Given the description of an element on the screen output the (x, y) to click on. 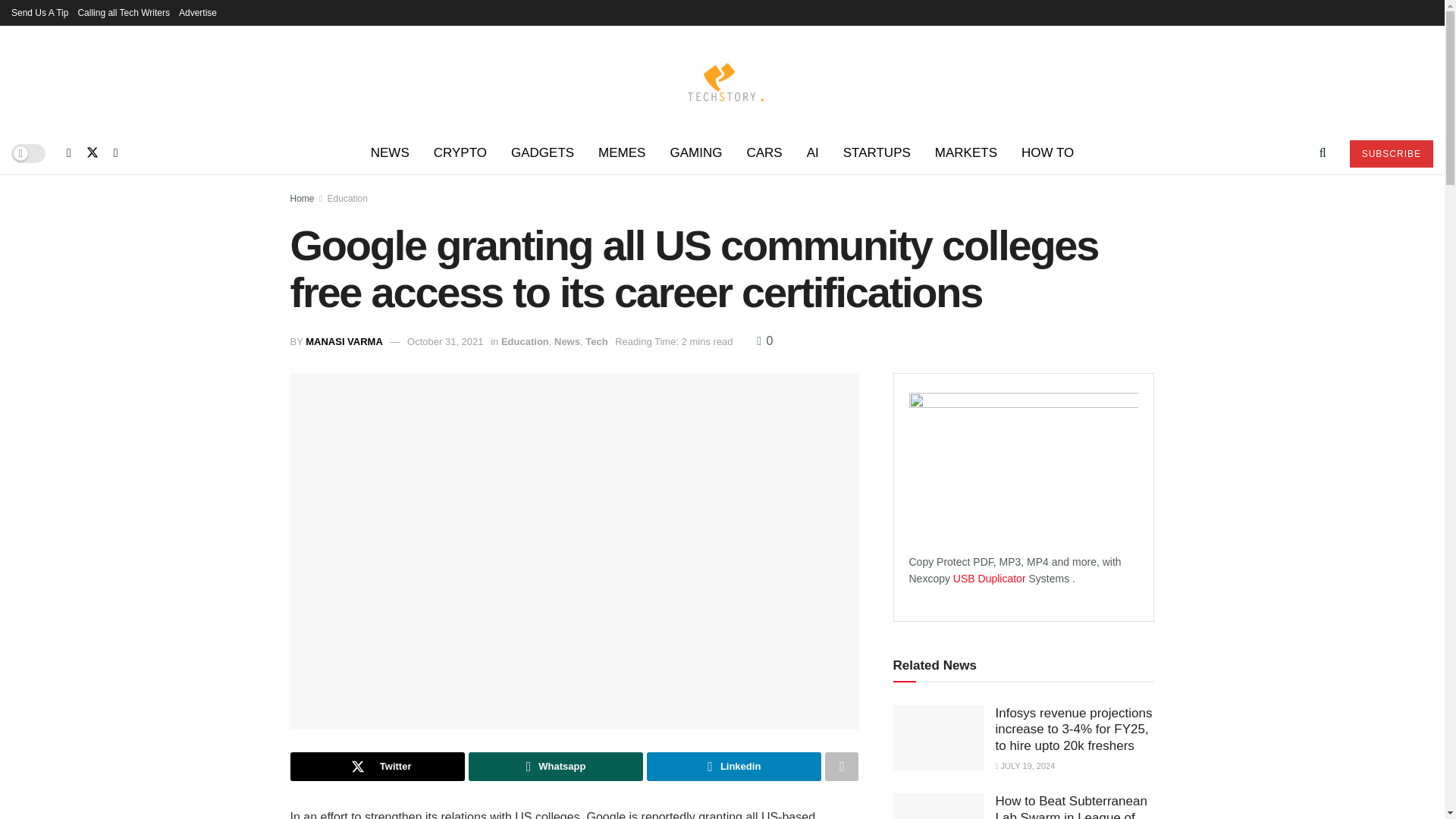
NEWS (390, 152)
Education (347, 198)
SUBSCRIBE (1390, 153)
MARKETS (966, 152)
STARTUPS (877, 152)
Advertise (197, 12)
Calling all Tech Writers (123, 12)
USB duplicator (989, 578)
MEMES (622, 152)
CRYPTO (460, 152)
CARS (763, 152)
GAMING (695, 152)
MANASI VARMA (343, 341)
HOW TO (1047, 152)
AI (812, 152)
